Given the description of an element on the screen output the (x, y) to click on. 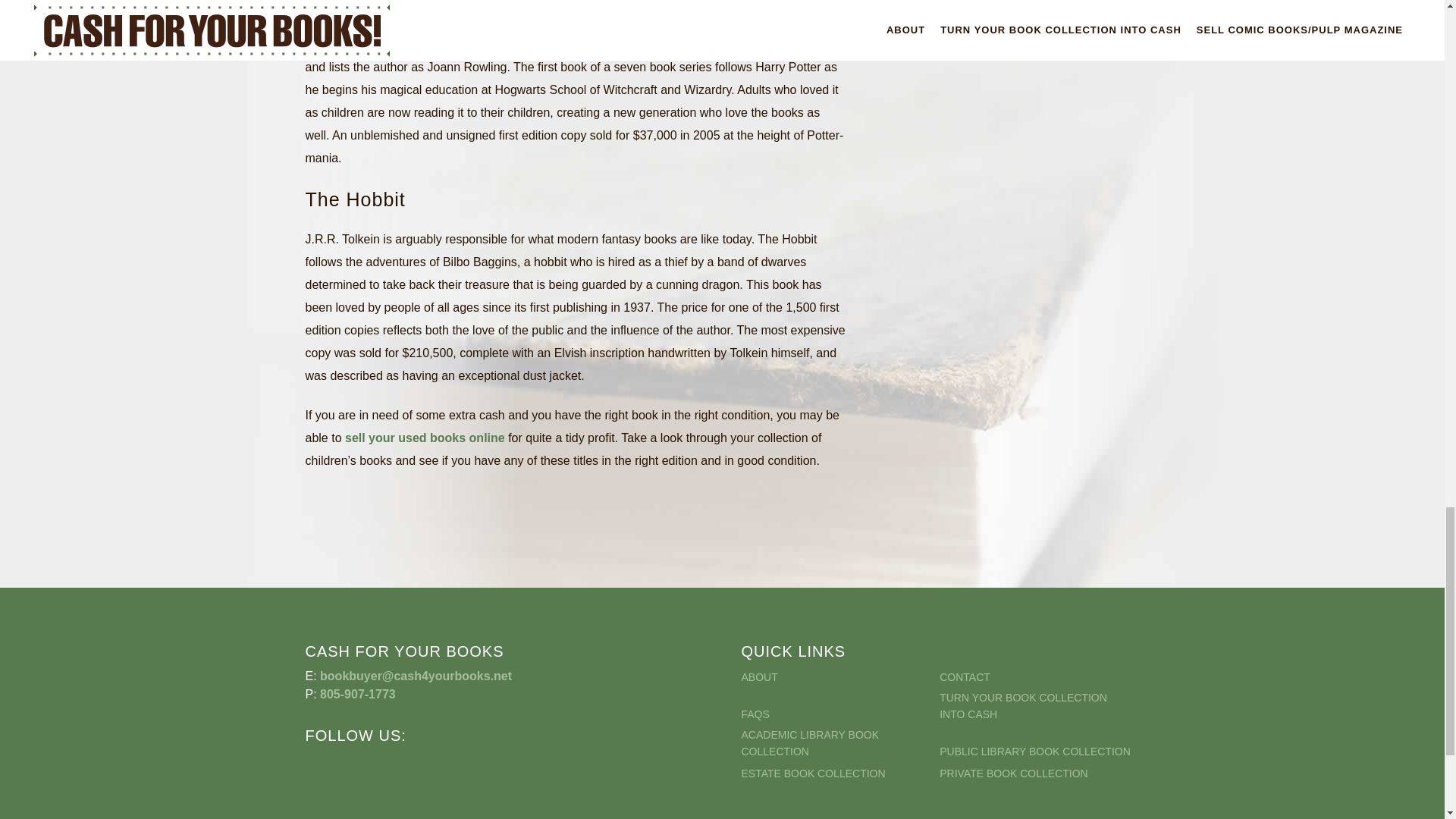
ABOUT (838, 677)
sell your used books online (425, 437)
CONTACT (1036, 677)
805-907-1773 (358, 694)
